Given the description of an element on the screen output the (x, y) to click on. 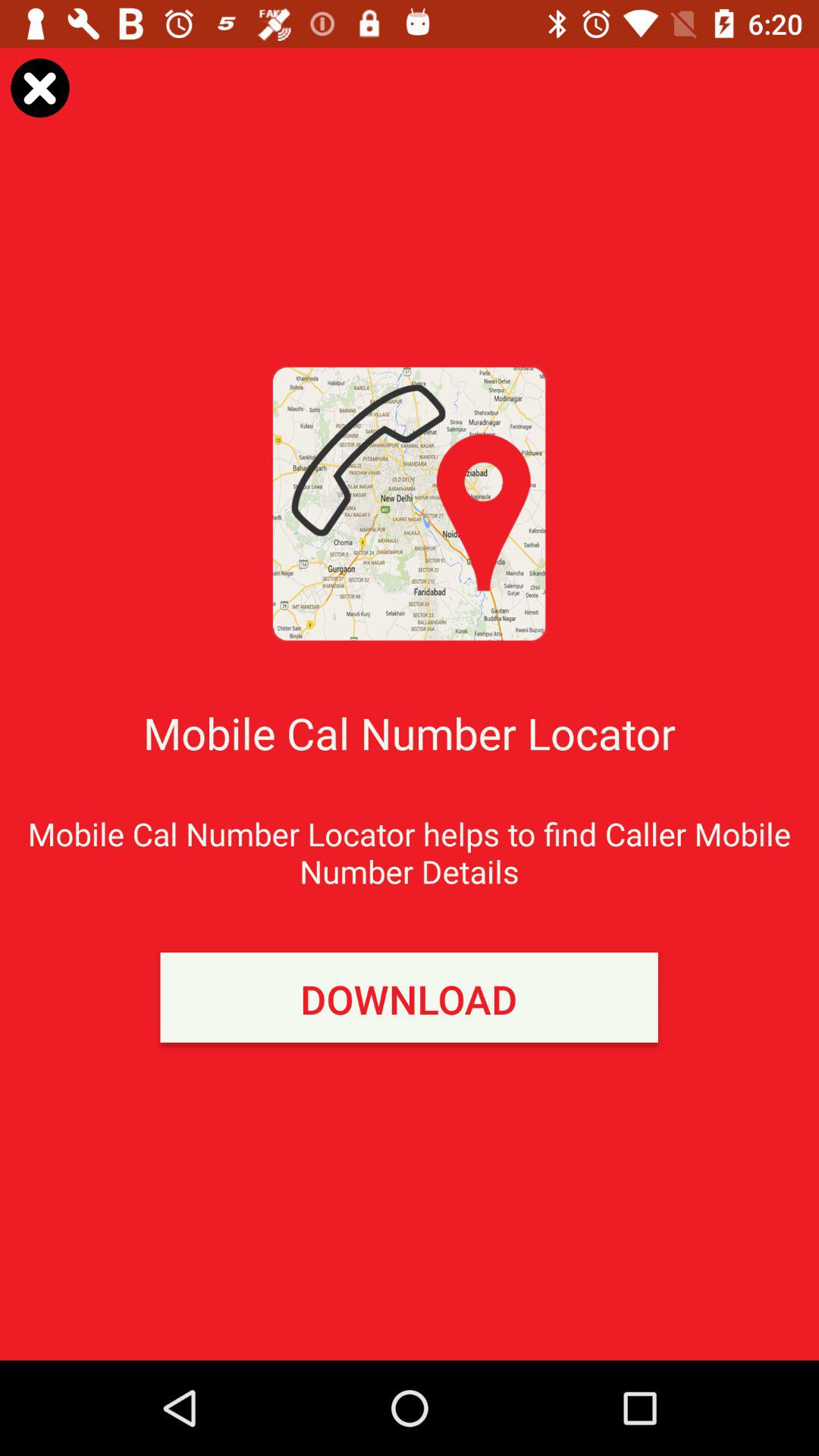
close option (39, 87)
